Given the description of an element on the screen output the (x, y) to click on. 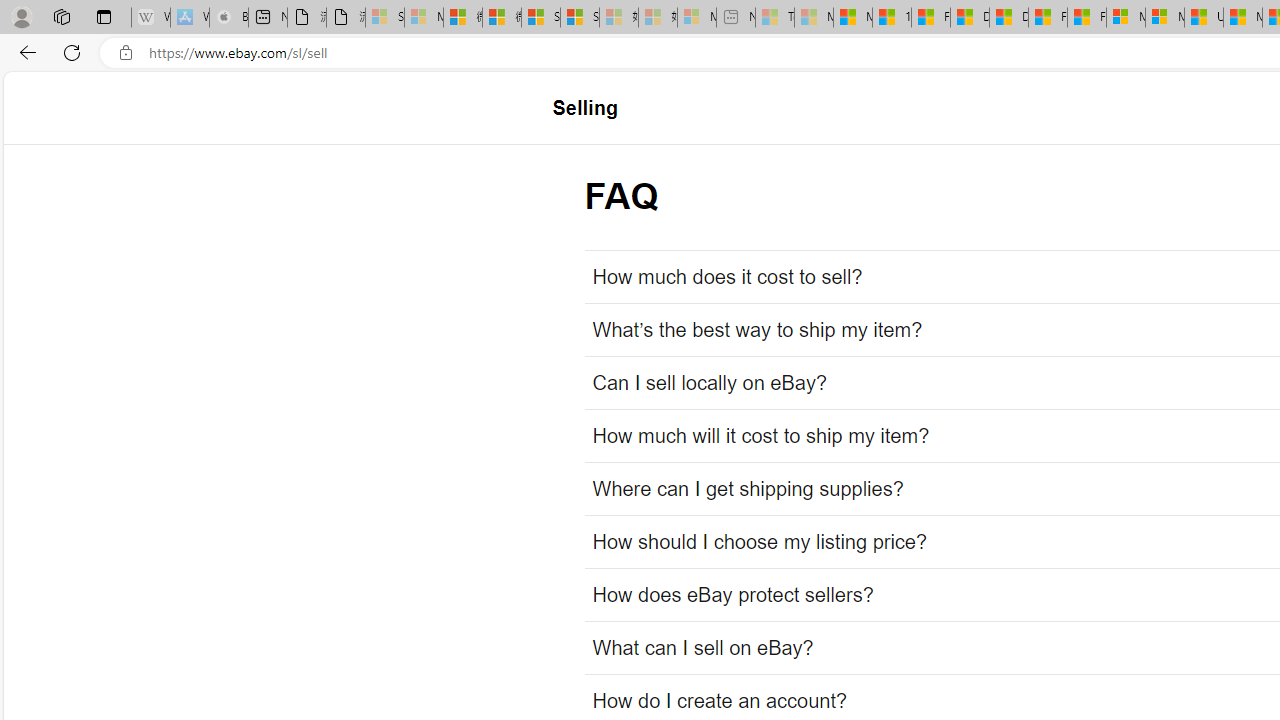
Foo BAR | Trusted Community Engagement and Contributions (1086, 17)
Top Stories - MSN - Sleeping (774, 17)
Wikipedia - Sleeping (150, 17)
Food and Drink - MSN (930, 17)
US Heat Deaths Soared To Record High Last Year (1203, 17)
New tab - Sleeping (735, 17)
Microsoft account | Account Checkup - Sleeping (696, 17)
Buy iPad - Apple - Sleeping (228, 17)
